Given the description of an element on the screen output the (x, y) to click on. 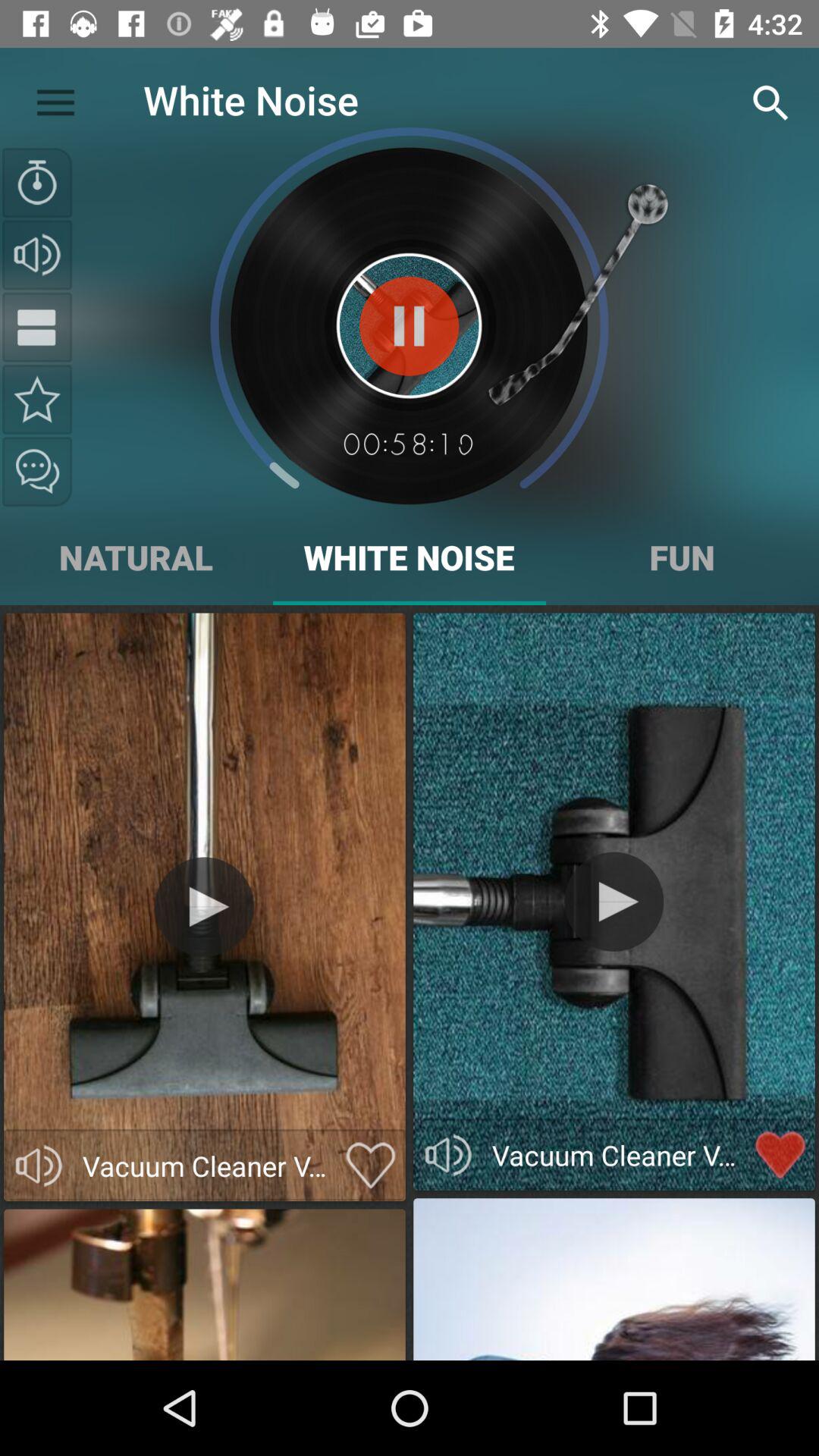
play vacumm cleaner sounds (448, 1155)
